Given the description of an element on the screen output the (x, y) to click on. 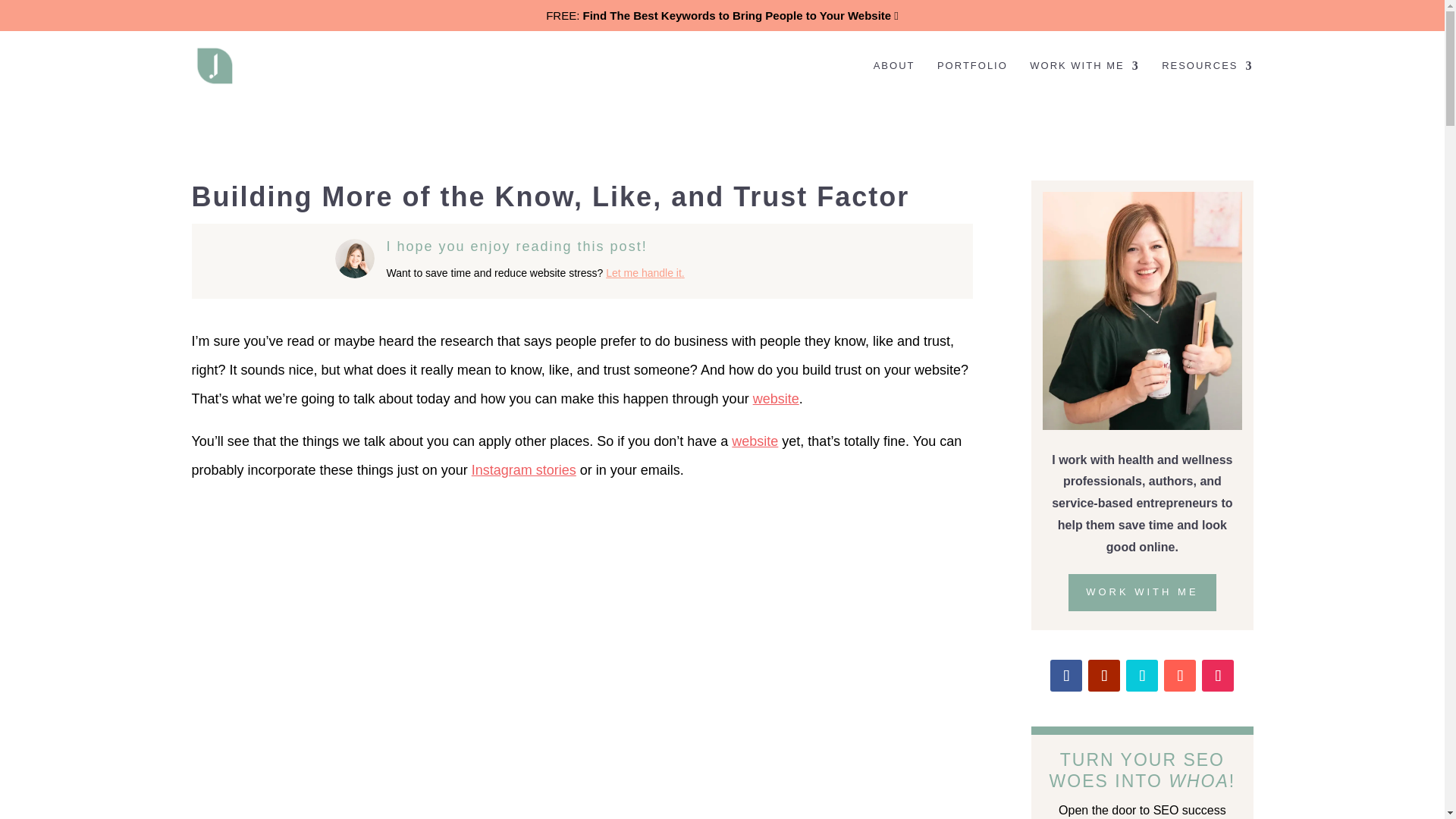
Let me handle it (643, 272)
website (775, 398)
Follow on Facebook (1065, 675)
Follow on TikTok (1141, 675)
website (754, 441)
RESOURCES (1206, 80)
Follow on Youtube (1103, 675)
Follow on Instagram (1217, 675)
WORK WITH ME (1083, 80)
website (754, 441)
Follow on iTunes (1179, 675)
PORTFOLIO (972, 80)
website (775, 398)
Instagram stories (523, 469)
ABOUT (894, 80)
